Given the description of an element on the screen output the (x, y) to click on. 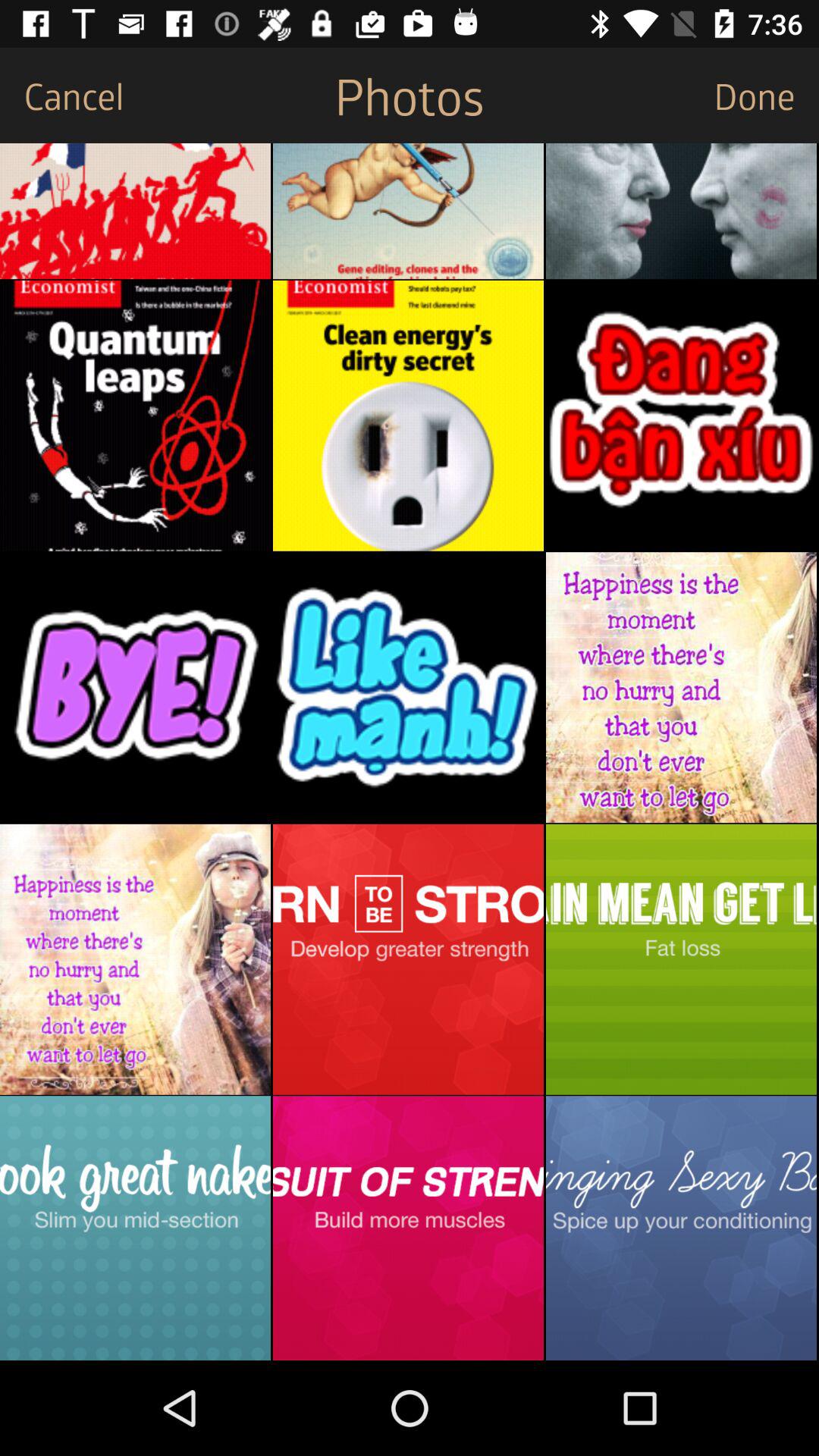
choose the item below cancel item (135, 211)
